Given the description of an element on the screen output the (x, y) to click on. 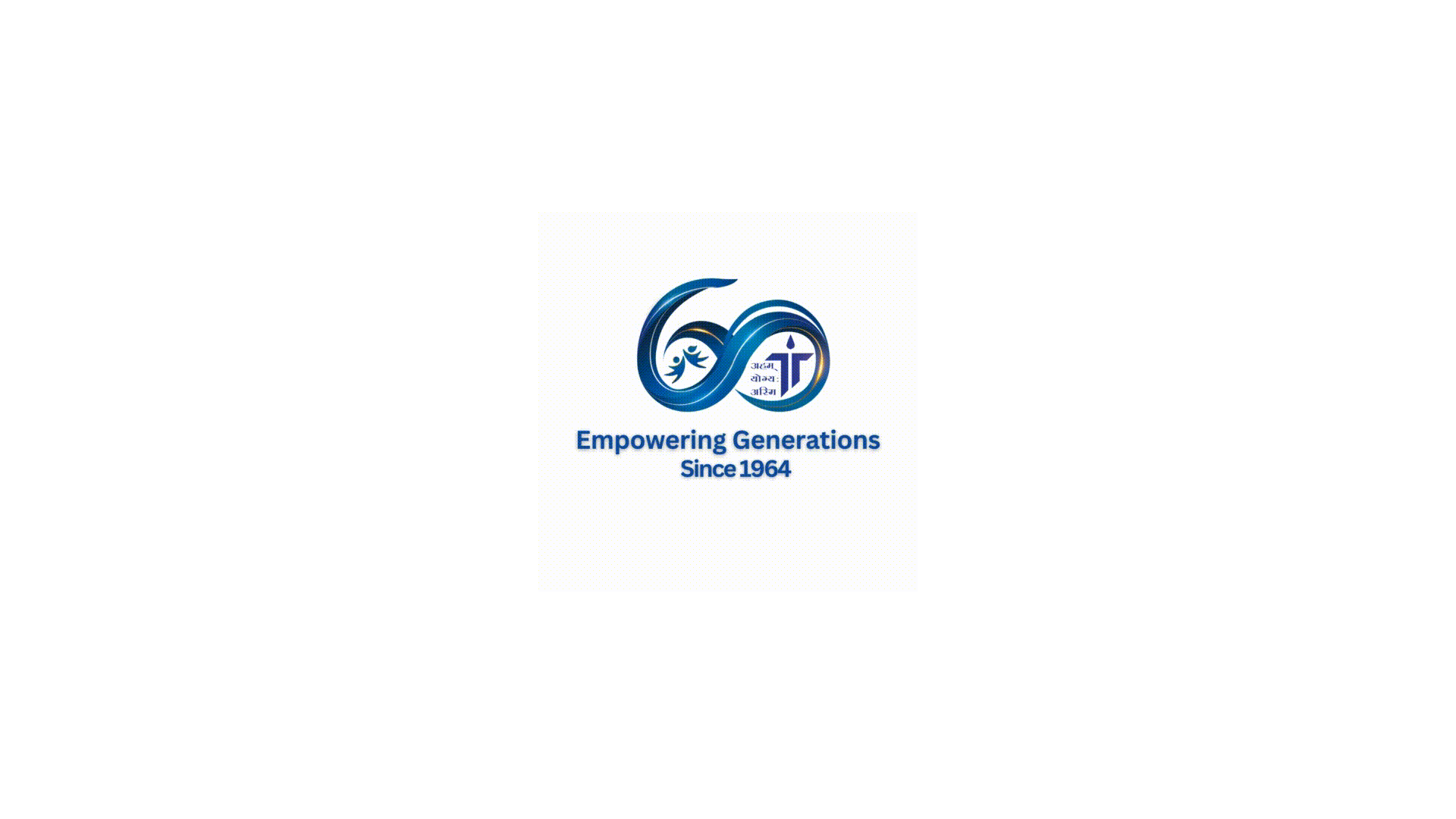
SCHOOL INFORMATION (485, 87)
Tagore Times (203, 18)
Contact Us (434, 18)
Parent Corner (80, 18)
